Given the description of an element on the screen output the (x, y) to click on. 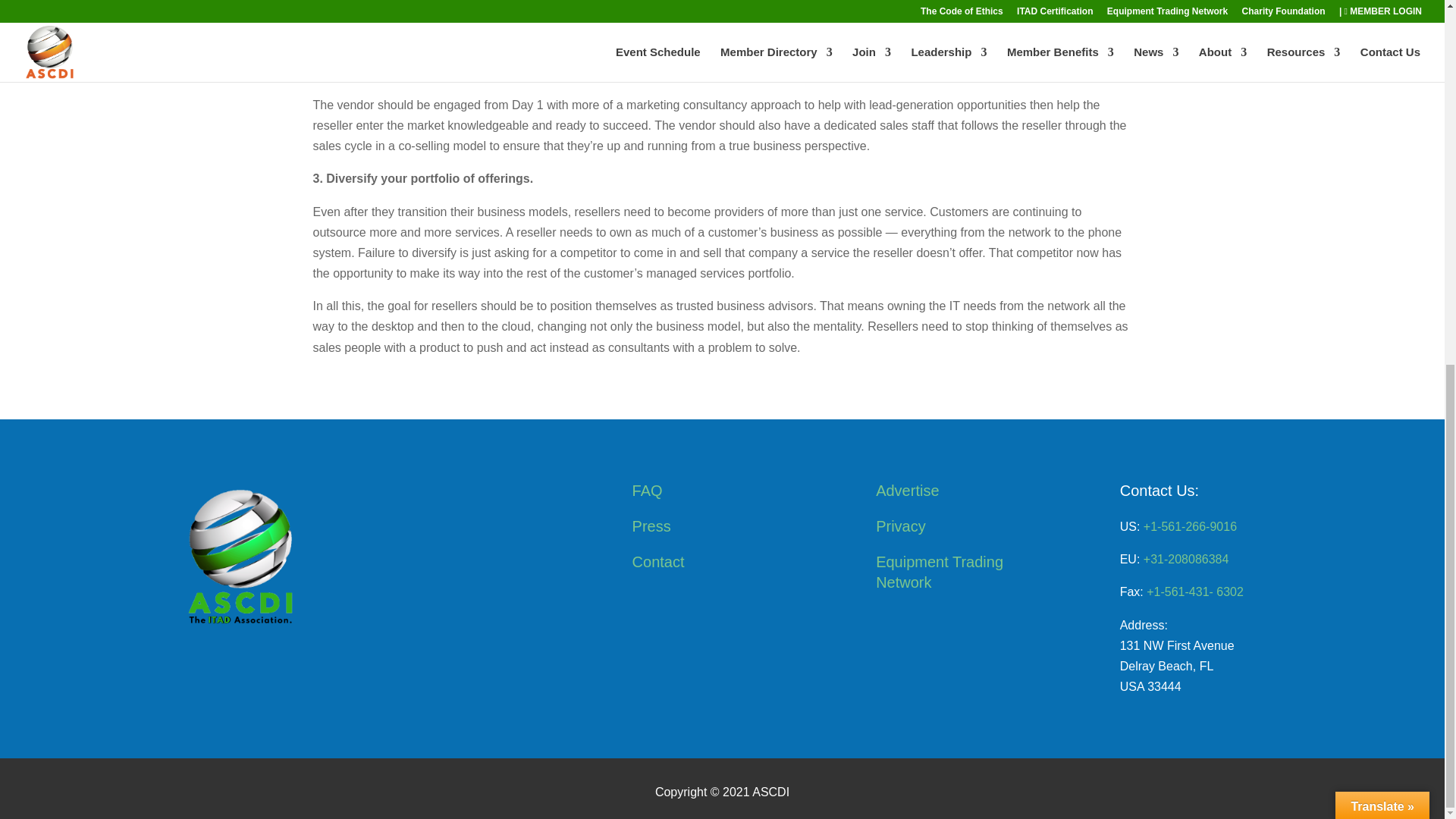
cropped-ASCDI-2020-LOGO-no-tagline3.png (234, 556)
